Given the description of an element on the screen output the (x, y) to click on. 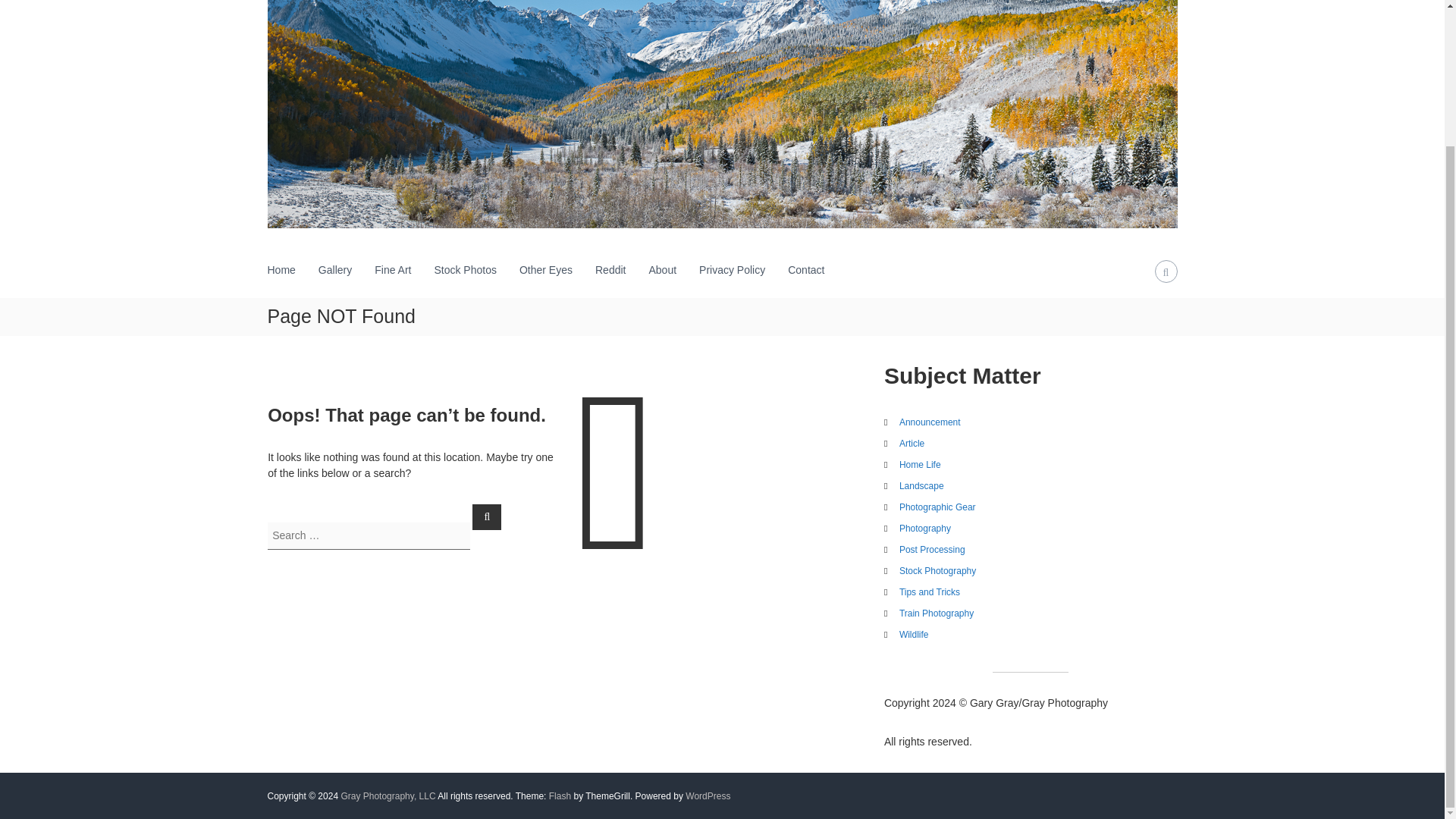
Article (911, 443)
Fine Art (392, 269)
Landscape (921, 485)
Gray Photography, LLC (387, 795)
WordPress (707, 795)
Other Eyes (545, 269)
Photographic Gear (937, 507)
Flash (559, 795)
Train Photography (936, 613)
About (662, 269)
Privacy Policy (731, 269)
Post Processing (932, 549)
Contact (805, 269)
Gallery (335, 269)
Wildlife (913, 634)
